Given the description of an element on the screen output the (x, y) to click on. 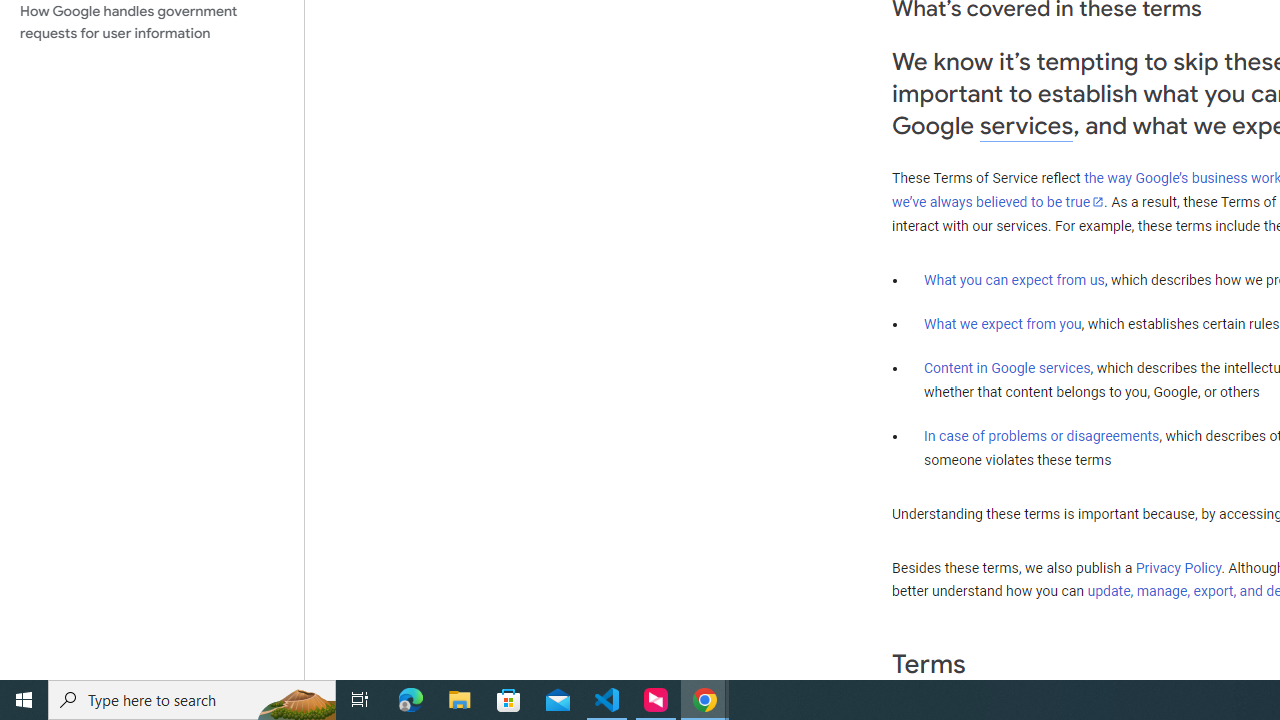
Content in Google services (1007, 368)
What we expect from you (1002, 323)
In case of problems or disagreements (1041, 435)
services (1026, 125)
What you can expect from us (1014, 279)
